Given the description of an element on the screen output the (x, y) to click on. 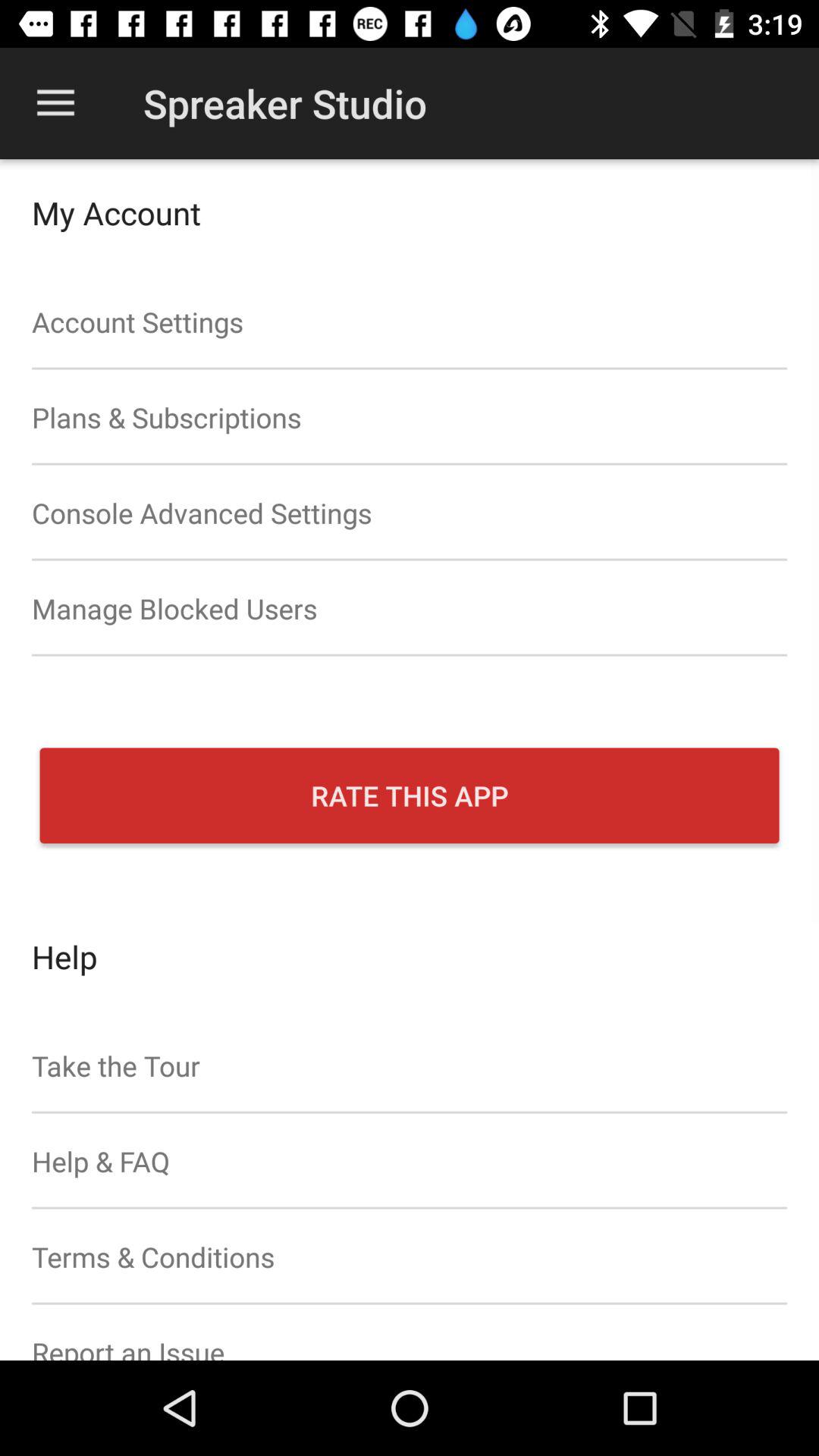
press item above the rate this app item (409, 608)
